Given the description of an element on the screen output the (x, y) to click on. 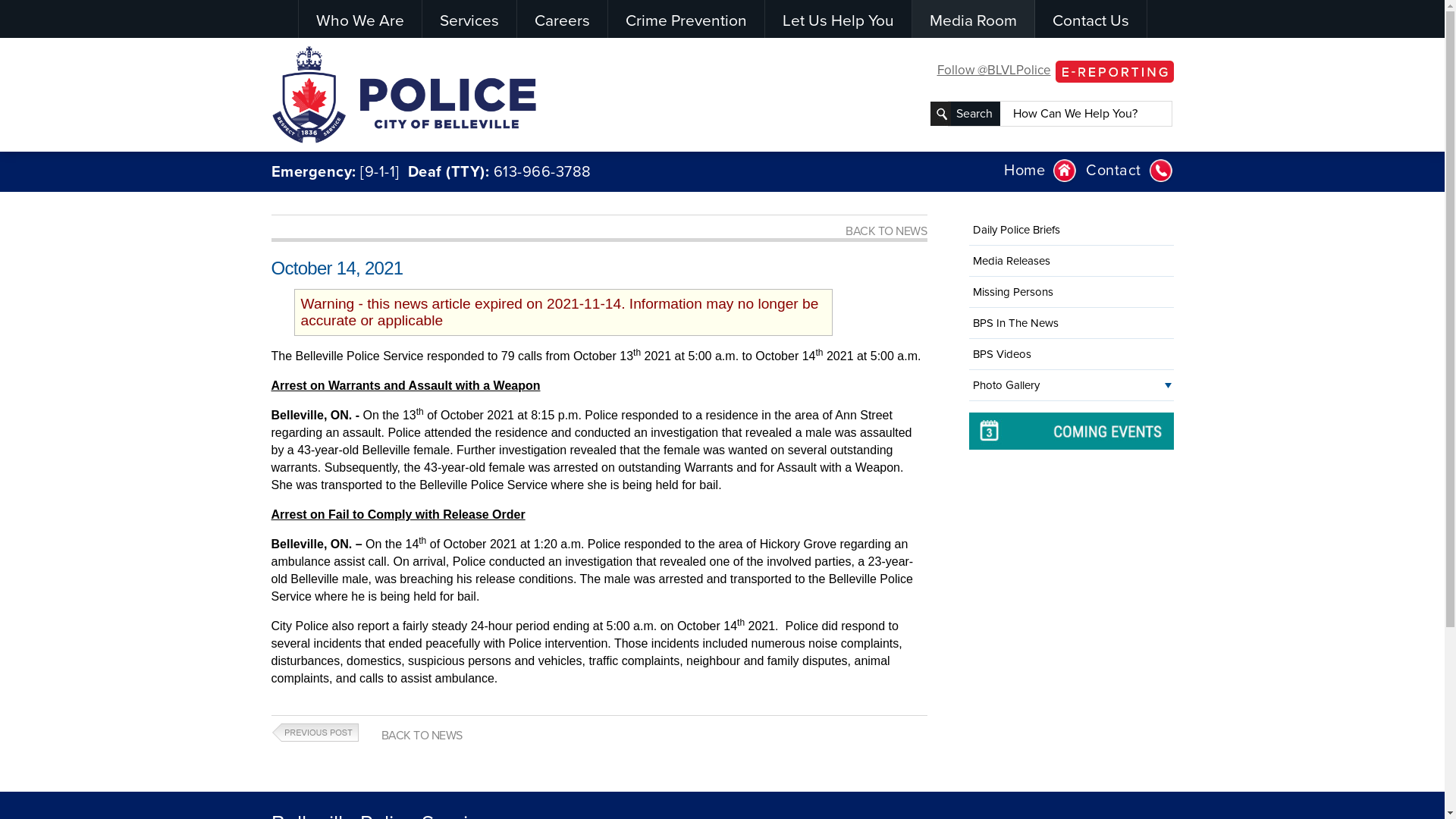
Careers Element type: text (562, 18)
BPS Videos Element type: text (1071, 353)
Photo Gallery Element type: text (1071, 385)
Crime Prevention Element type: text (686, 18)
Media Releases Element type: text (1071, 260)
Search Element type: text (973, 112)
Home   Element type: text (1040, 170)
BPS In The News Element type: text (1071, 322)
Media Room Element type: text (972, 18)
Let Us Help You Element type: text (837, 18)
Missing Persons Element type: text (1071, 291)
Contact Us Element type: text (1089, 18)
Daily Police Briefs Element type: text (1071, 229)
Services Element type: text (468, 18)
Contact   Element type: text (1129, 170)
How Can We Help You? Element type: text (1087, 113)
BACK TO NEWS Element type: text (885, 230)
Search Element type: text (973, 113)
Follow @BLVLPolice Element type: text (994, 70)
BACK TO NEWS Element type: text (420, 735)
Who We Are Element type: text (359, 18)
